Given the description of an element on the screen output the (x, y) to click on. 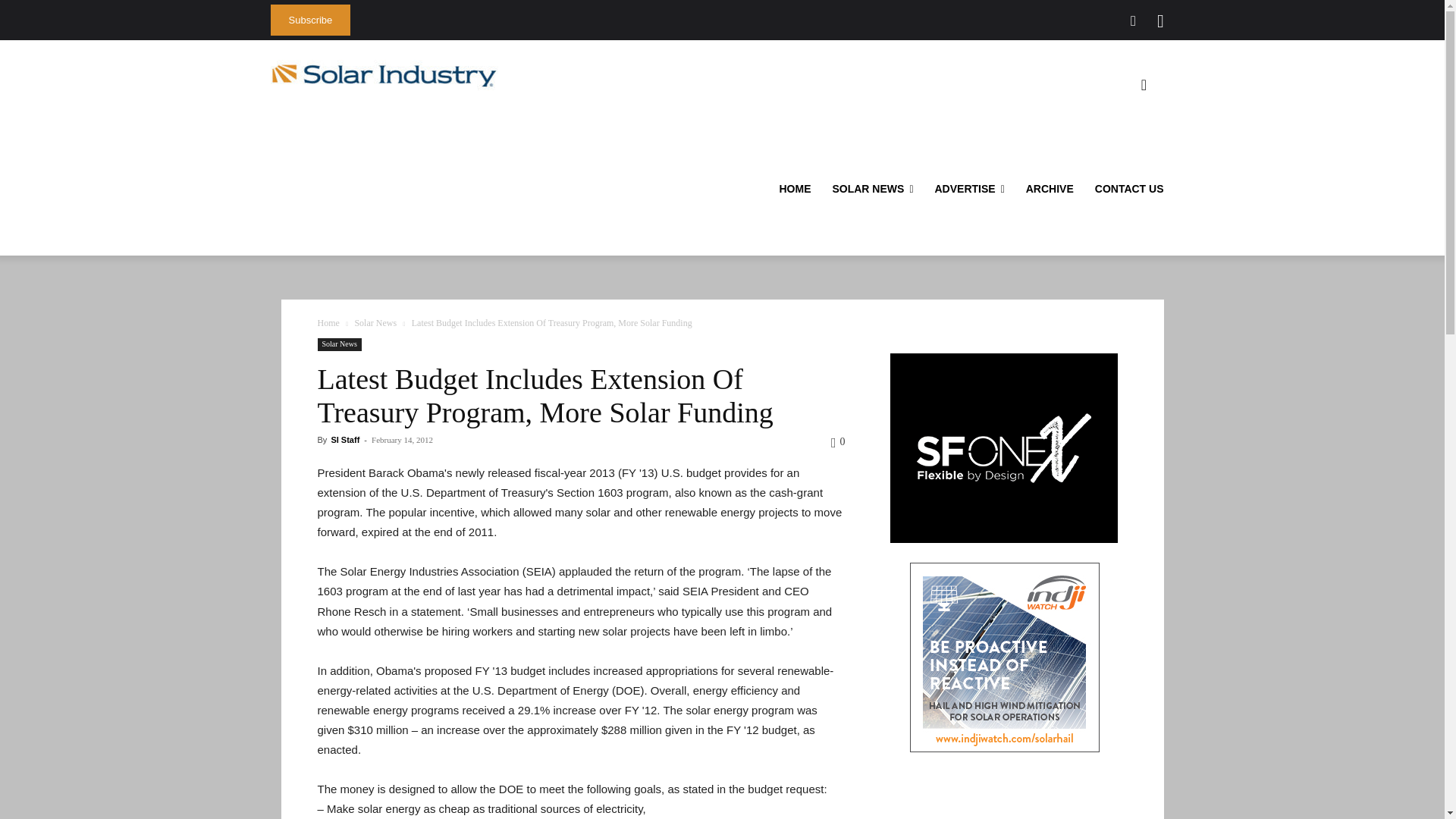
Solar Industry (383, 75)
Subscribe (309, 20)
View all posts in Solar News (374, 322)
Twitter (1133, 21)
Rss (1160, 21)
